Given the description of an element on the screen output the (x, y) to click on. 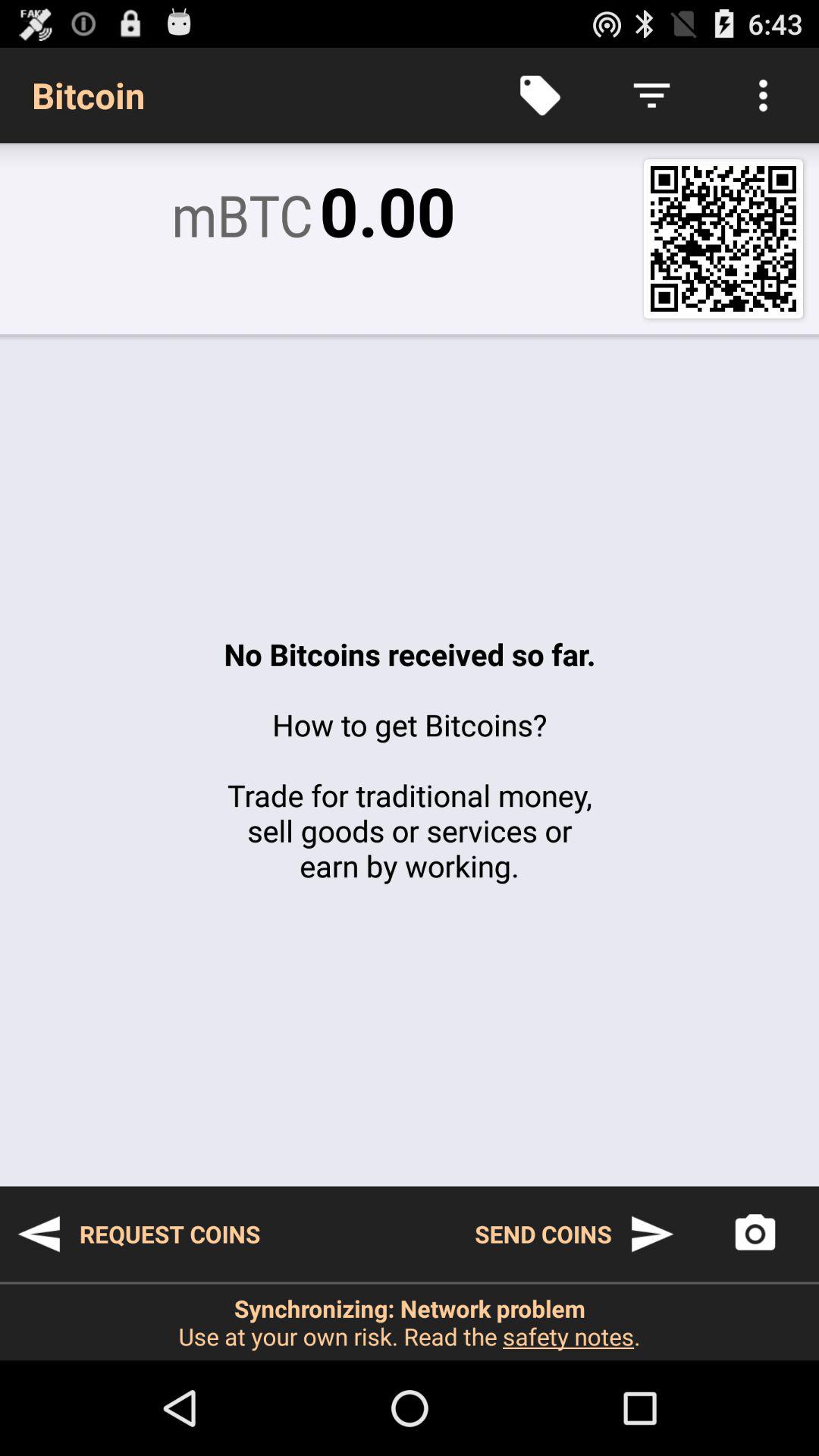
press icon below request coins icon (409, 1322)
